Given the description of an element on the screen output the (x, y) to click on. 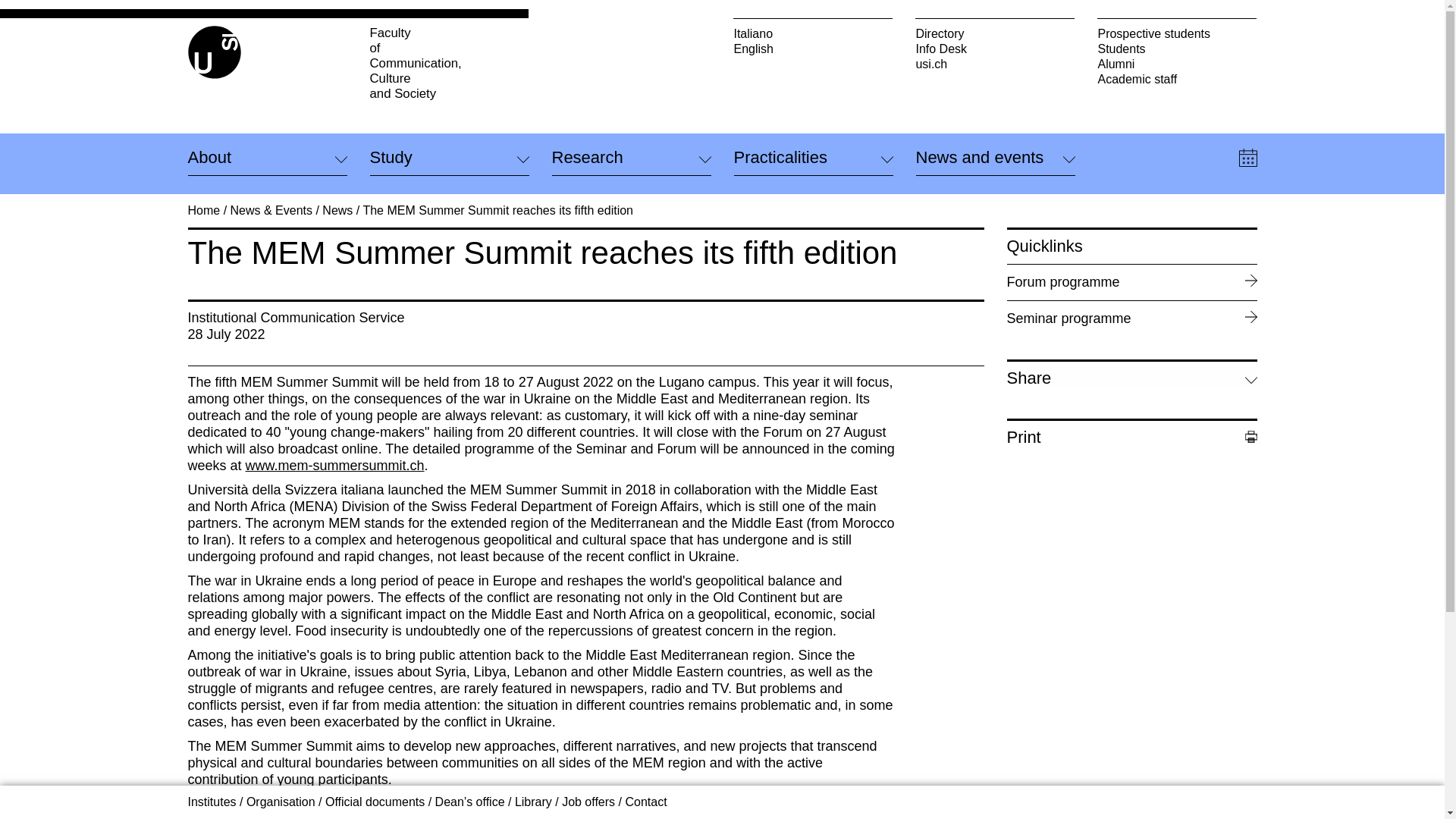
Italiano (812, 33)
Prospective students (1176, 33)
Academic staff (1176, 79)
usi.ch (994, 64)
English (812, 48)
Directory (994, 33)
Students (1176, 48)
Info Desk (448, 63)
Alumni (994, 48)
